Given the description of an element on the screen output the (x, y) to click on. 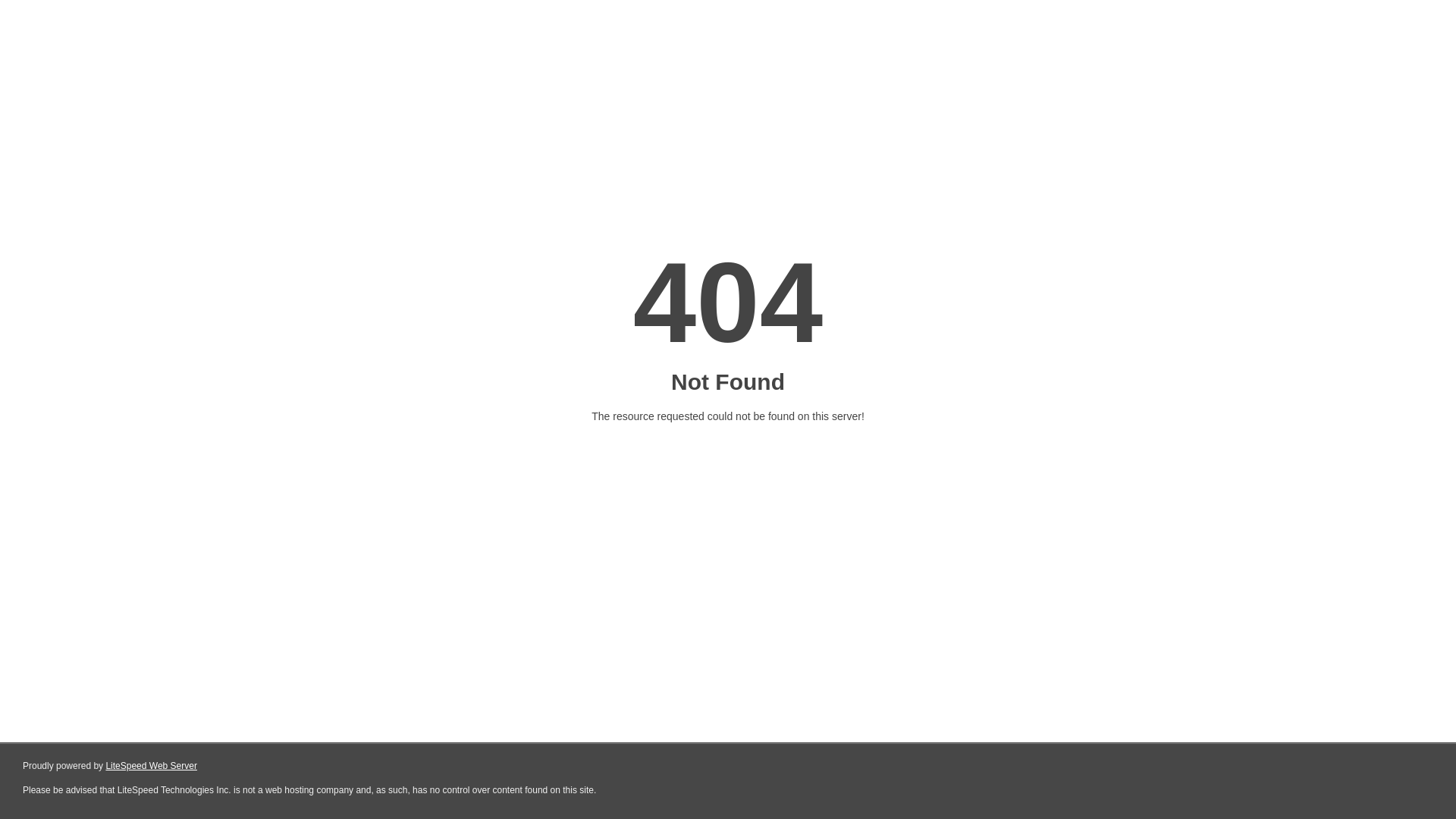
LiteSpeed Web Server Element type: text (151, 765)
